Given the description of an element on the screen output the (x, y) to click on. 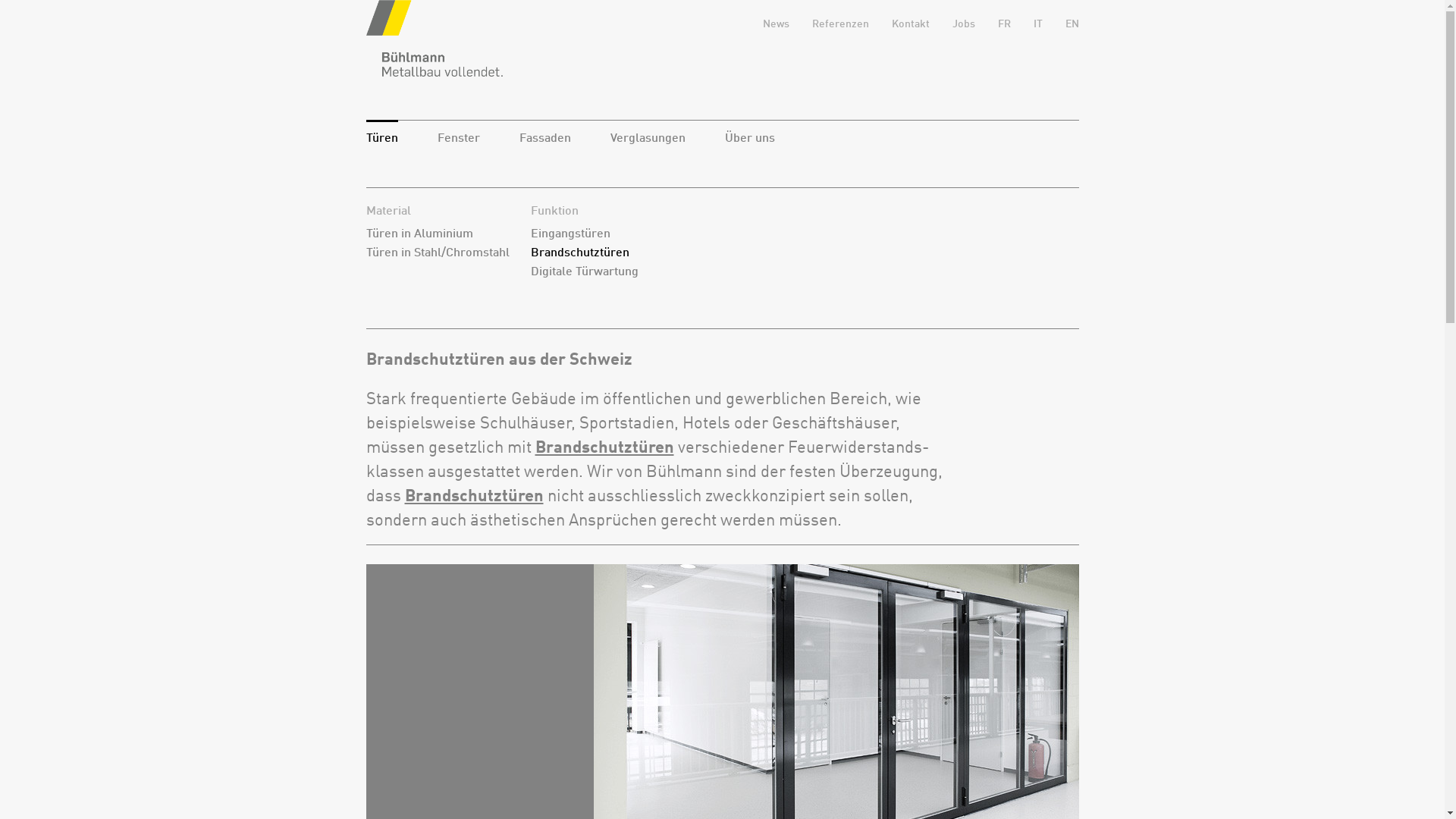
FR Element type: text (1003, 23)
Fenster Element type: text (457, 138)
Fassaden Element type: text (544, 138)
Kontakt Element type: text (910, 23)
EN Element type: text (1071, 23)
Jobs Element type: text (963, 23)
Verglasungen Element type: text (646, 138)
Referenzen Element type: text (839, 23)
IT Element type: text (1036, 23)
News Element type: text (775, 23)
